Given the description of an element on the screen output the (x, y) to click on. 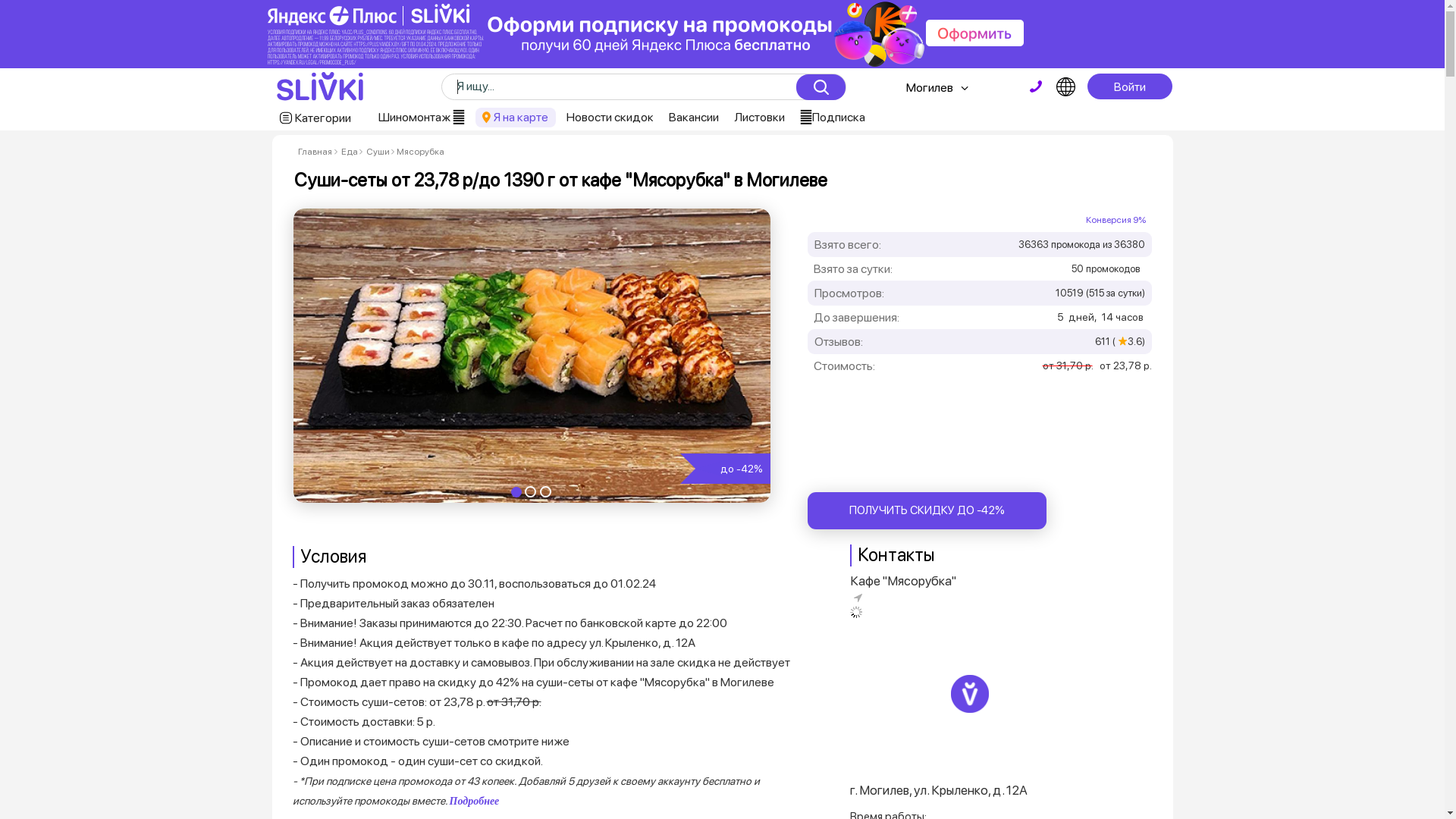
  Element type: text (1035, 86)
